Given the description of an element on the screen output the (x, y) to click on. 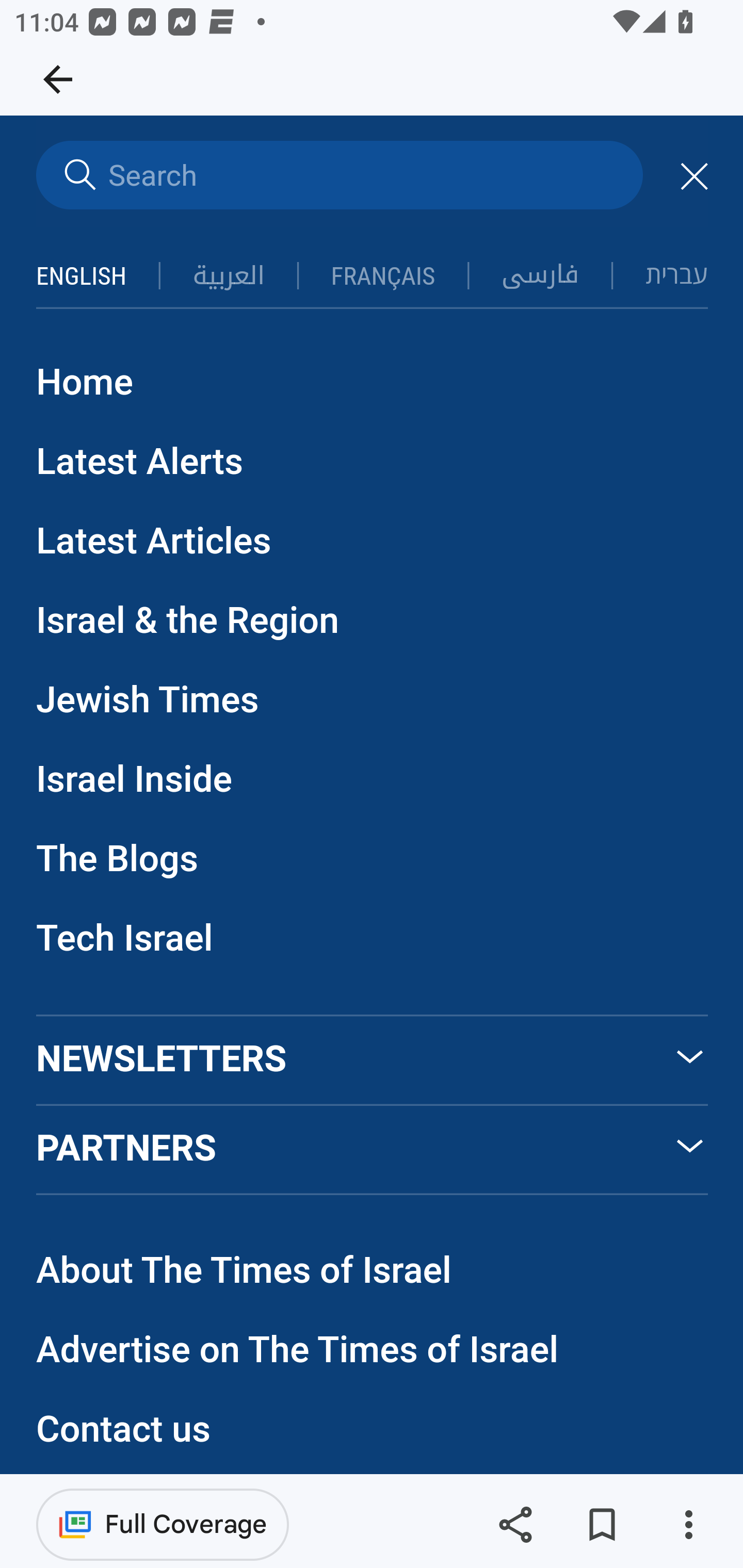
Navigate up (57, 79)
 (77, 176)
 (694, 177)
فارسی (539, 274)
العربية (228, 276)
עברית (676, 274)
ENGLISH (81, 277)
FRANÇAIS (382, 277)
Home (84, 383)
Latest Alerts (139, 463)
Latest Articles (154, 542)
Israel & the Region (188, 621)
Jewish Times (148, 701)
Israel Inside (134, 780)
The Blogs (117, 859)
Tech Israel (125, 939)
NEWSLETTERS  (372, 1060)
PARTNERS  (372, 1150)
About The Times of Israel (244, 1271)
Advertise on The Times of Israel (297, 1350)
Contact us (123, 1430)
Share (514, 1524)
Save for later (601, 1524)
More options (688, 1524)
Full Coverage (162, 1524)
